Given the description of an element on the screen output the (x, y) to click on. 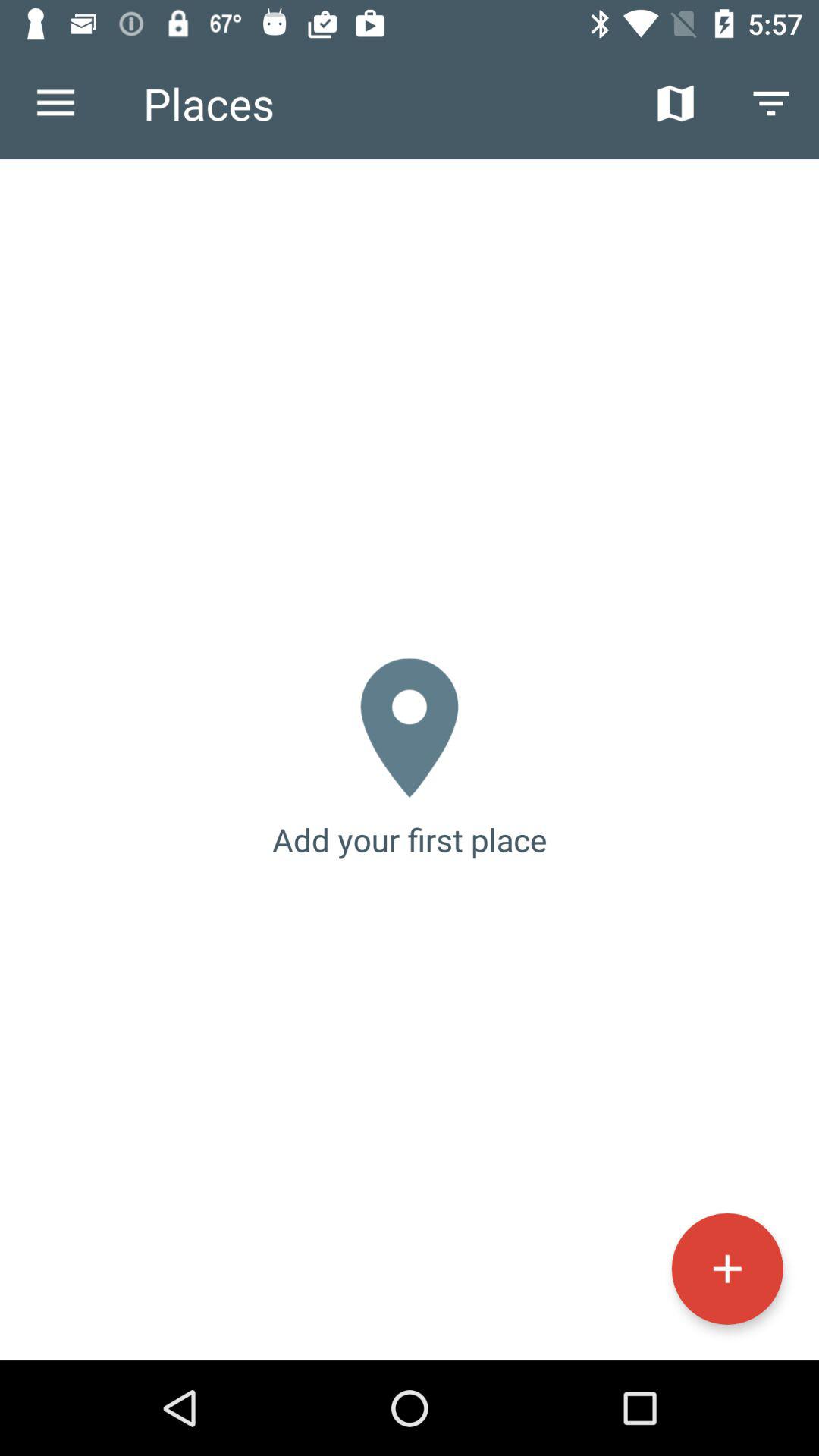
turn on item to the right of places (675, 103)
